Given the description of an element on the screen output the (x, y) to click on. 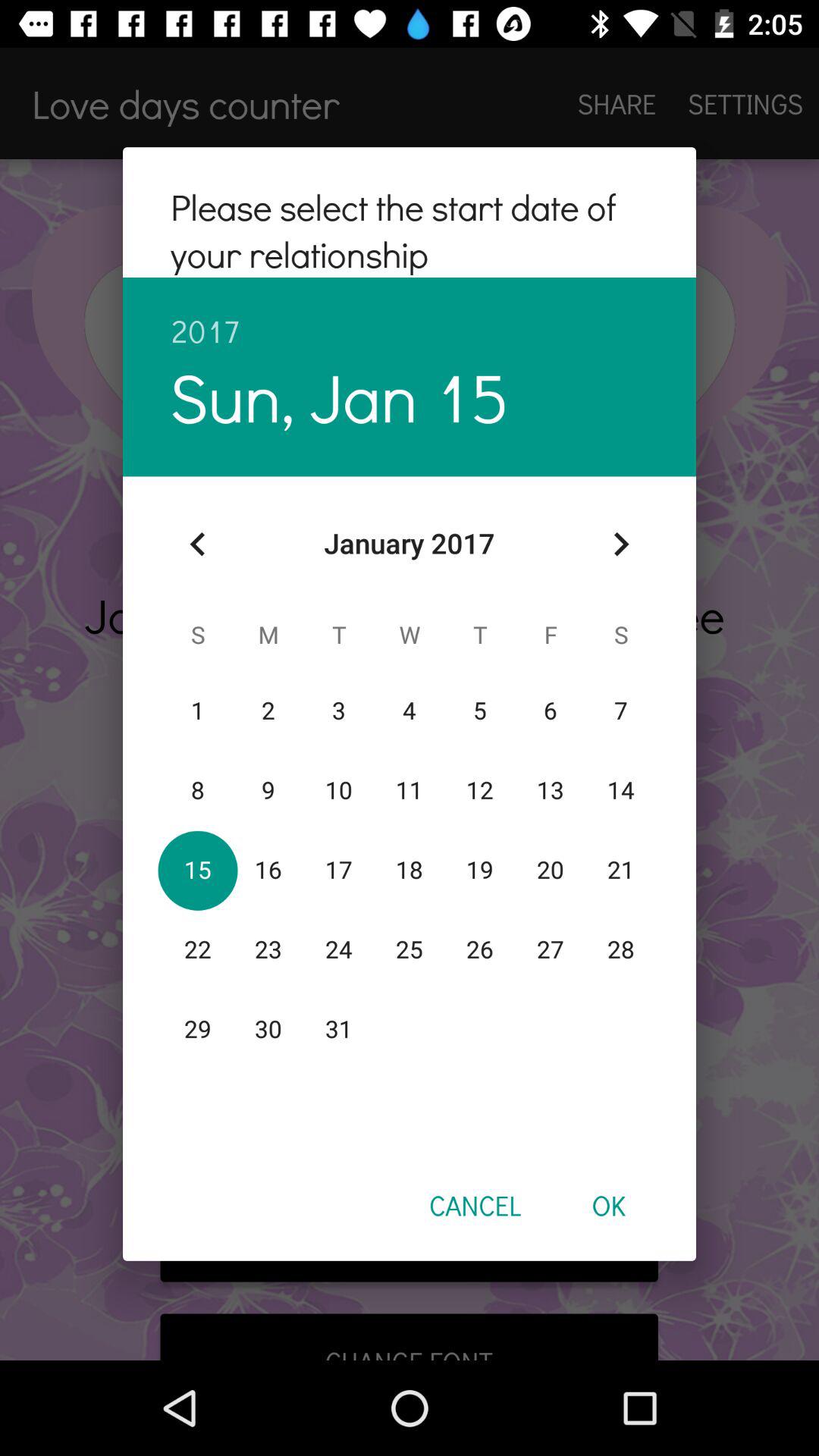
turn on item below the 2017 item (620, 544)
